Given the description of an element on the screen output the (x, y) to click on. 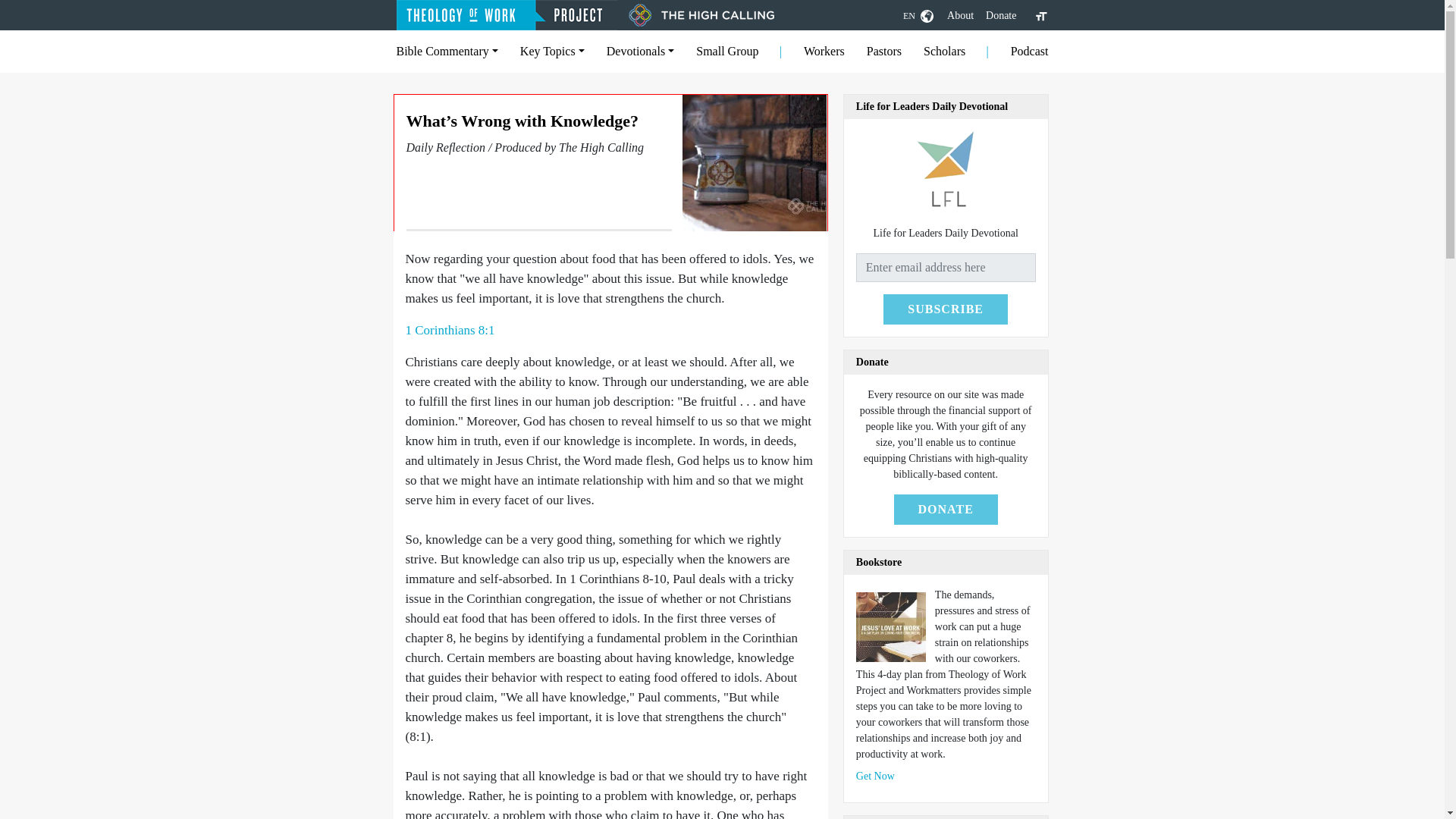
About (959, 15)
Donate (1000, 15)
